Given the description of an element on the screen output the (x, y) to click on. 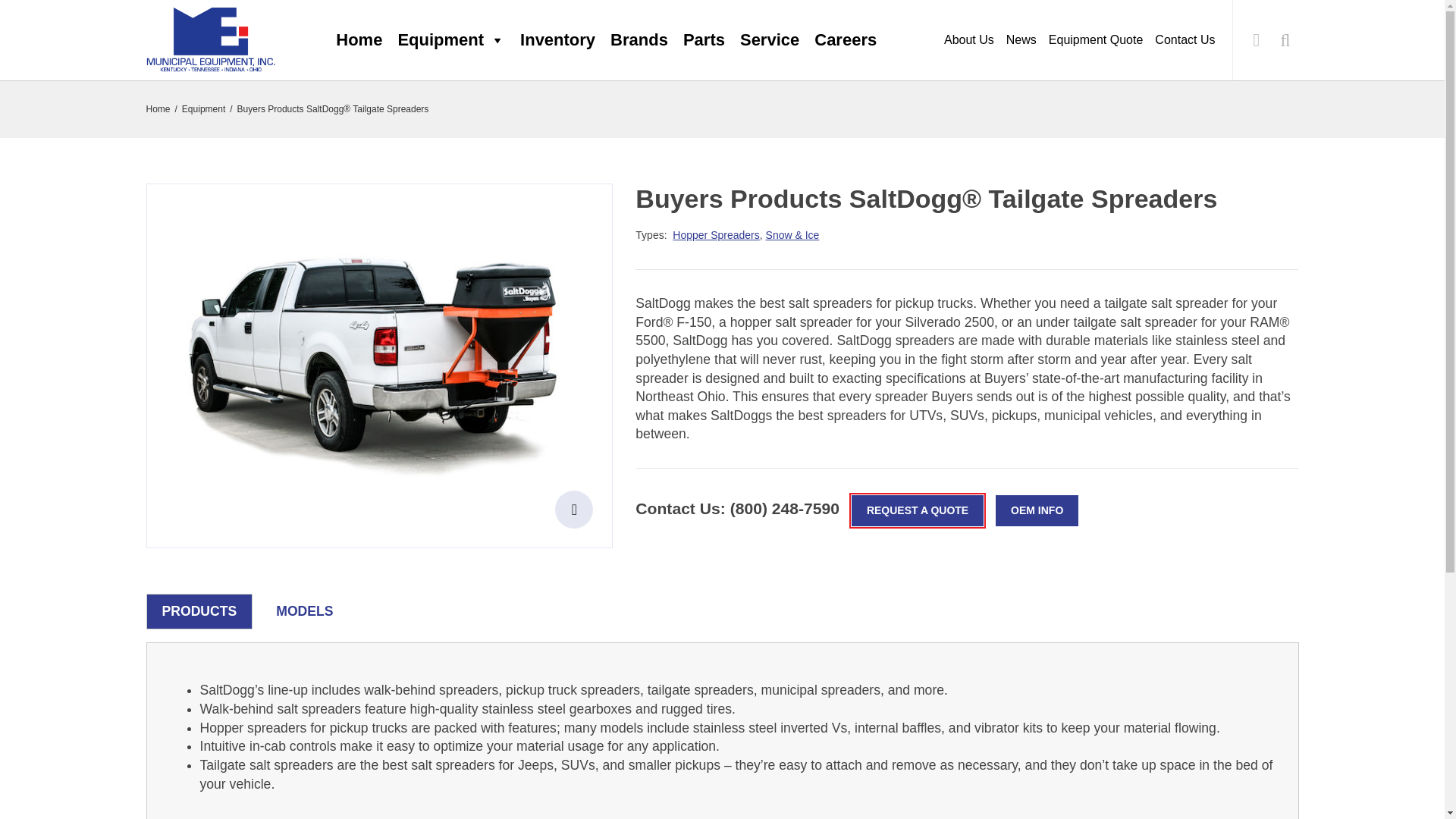
Service (769, 40)
Parts (703, 40)
Equipment Quote (1096, 40)
Equipment (451, 40)
Home (157, 109)
Brands (638, 40)
About Us (968, 40)
Inventory (557, 40)
News (1021, 40)
Home (359, 40)
Contact Us (1184, 40)
Equipment (203, 109)
Careers (844, 40)
